Given the description of an element on the screen output the (x, y) to click on. 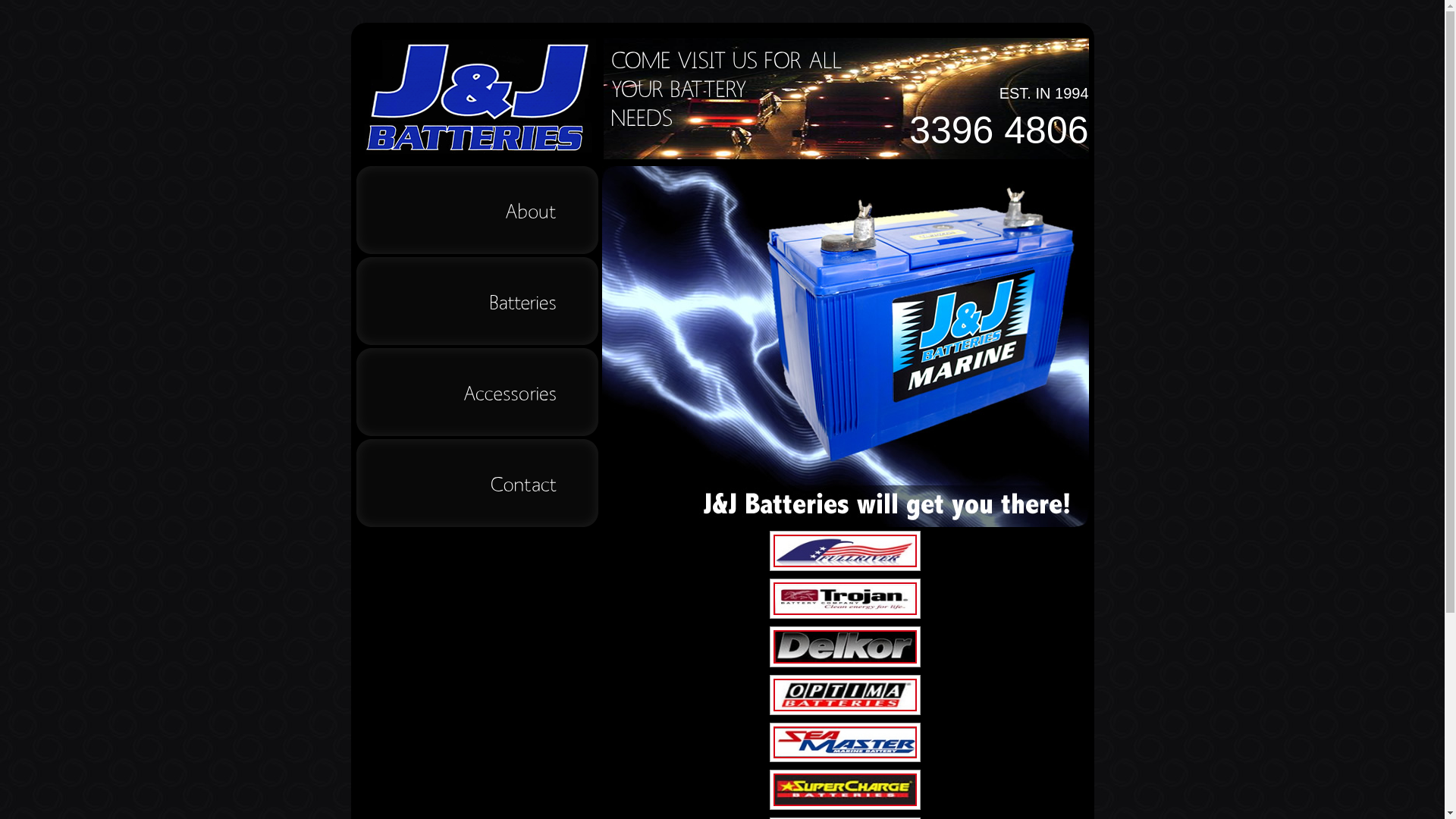
J&J Batteries Element type: hover (477, 98)
Trojan Sea Master Element type: hover (844, 598)
Optime Battries Element type: hover (844, 694)
Optime Battries Element type: hover (844, 550)
Sea Master Element type: hover (844, 742)
Delkor Element type: hover (844, 646)
Super Charge Element type: hover (844, 789)
